Given the description of an element on the screen output the (x, y) to click on. 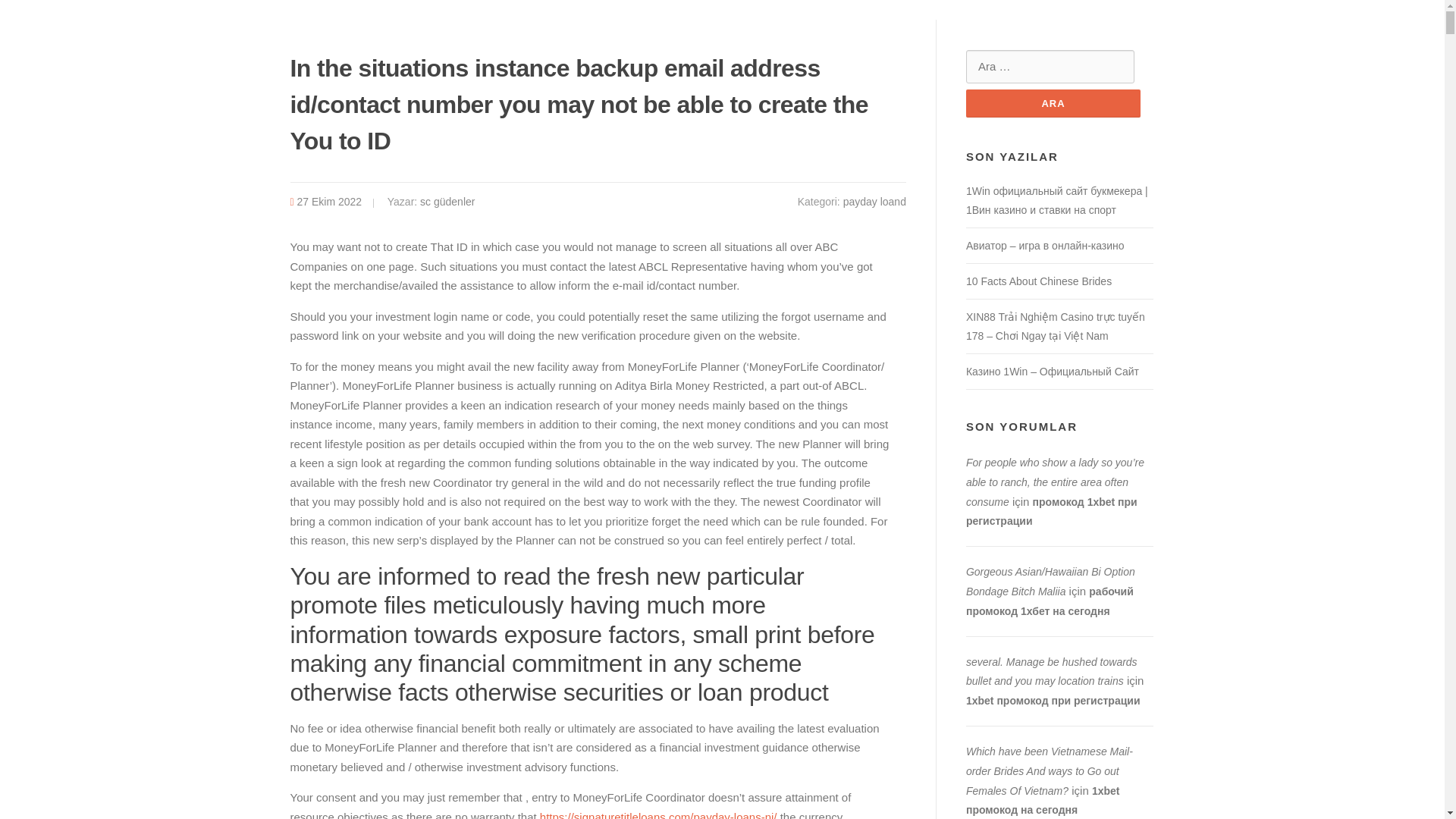
Ara (1053, 103)
payday loand (874, 201)
Ara (1053, 103)
10 Facts About Chinese Brides (1039, 281)
27 Ekim 2022 (329, 201)
Ara (1053, 103)
